Given the description of an element on the screen output the (x, y) to click on. 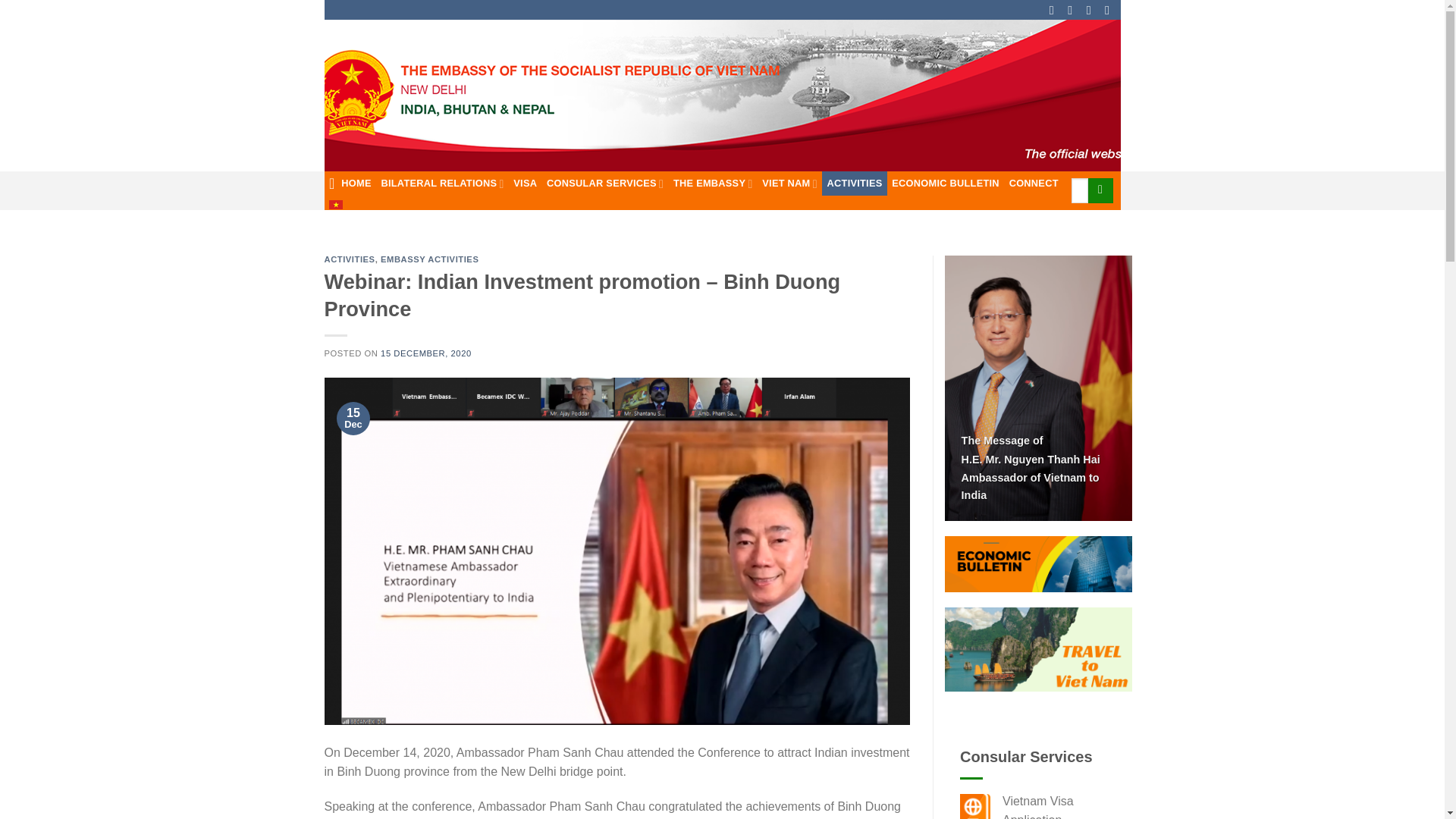
BILATERAL RELATIONS (441, 183)
VISA (524, 183)
ACTIVITIES (854, 183)
VIET NAM (789, 183)
CONSULAR SERVICES (604, 183)
 HOME (350, 183)
THE EMBASSY (712, 183)
